Given the description of an element on the screen output the (x, y) to click on. 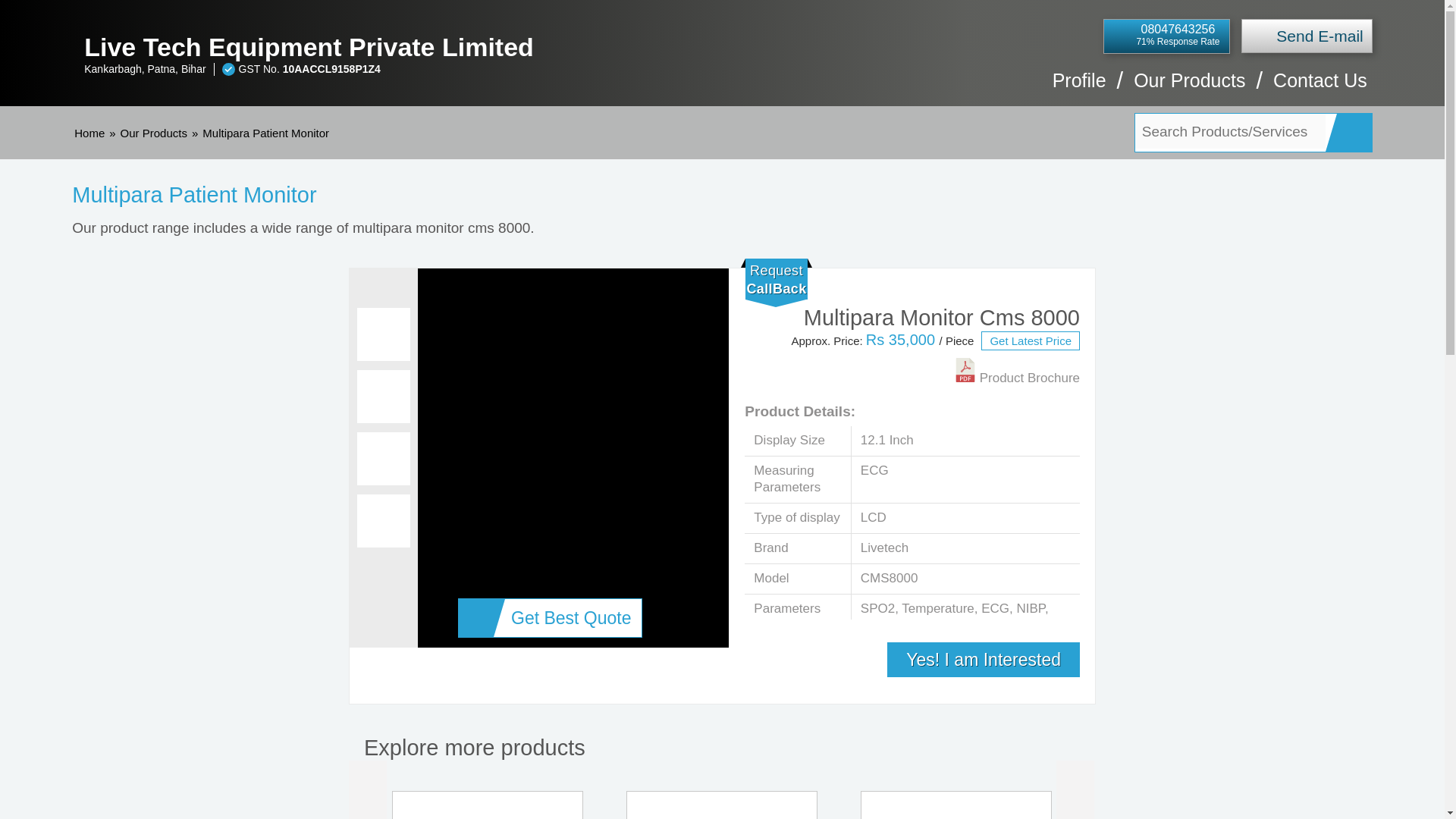
Profile (1079, 88)
Our Products (153, 132)
Our Products (1189, 88)
Home (89, 132)
Live Tech Equipment Private Limited (422, 46)
Contact Us (1319, 88)
